Given the description of an element on the screen output the (x, y) to click on. 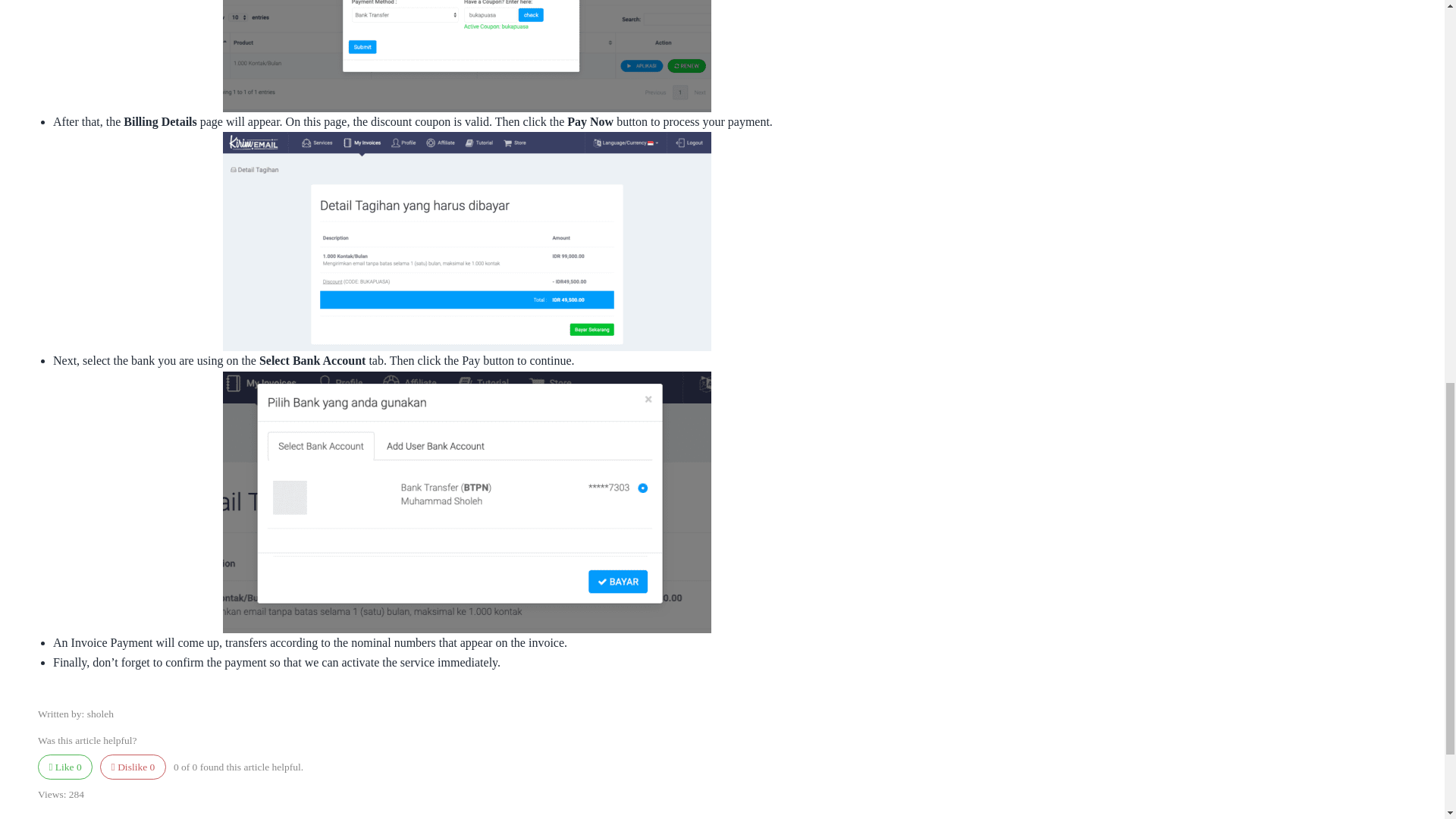
Like (65, 766)
Dislike 0 (132, 766)
Dislike (132, 766)
Like 0 (65, 766)
